Given the description of an element on the screen output the (x, y) to click on. 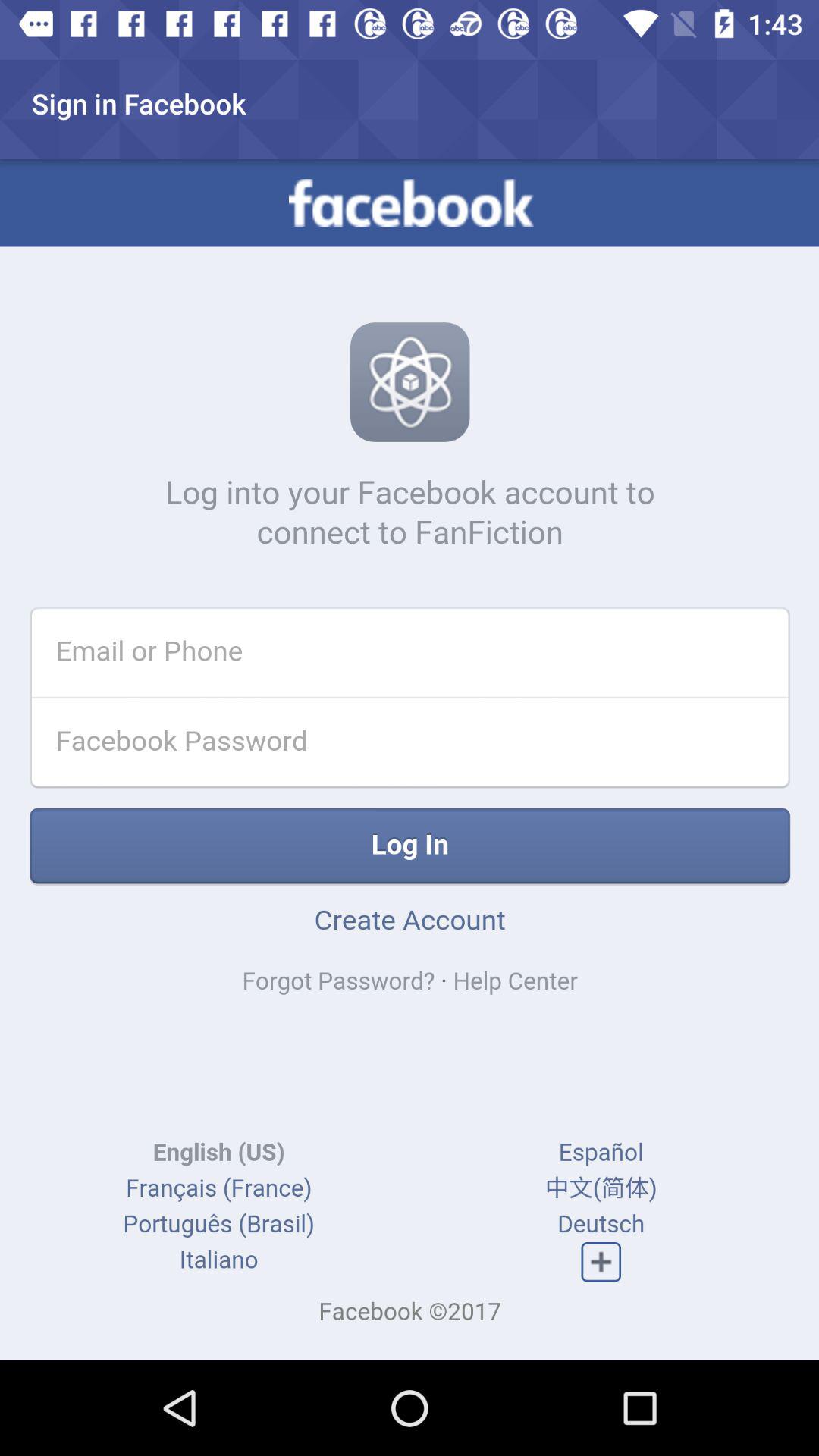
description (409, 759)
